Given the description of an element on the screen output the (x, y) to click on. 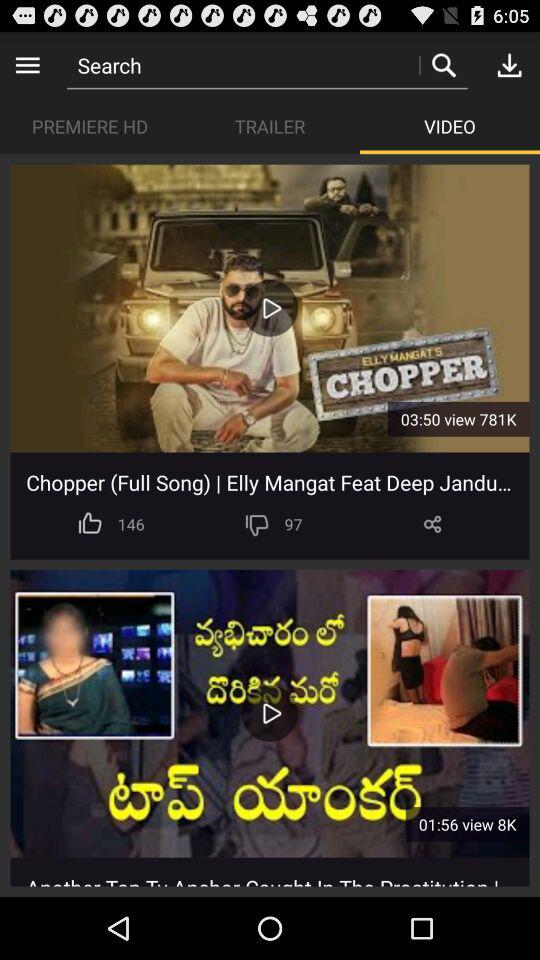
launch item next to the 97 icon (432, 523)
